Given the description of an element on the screen output the (x, y) to click on. 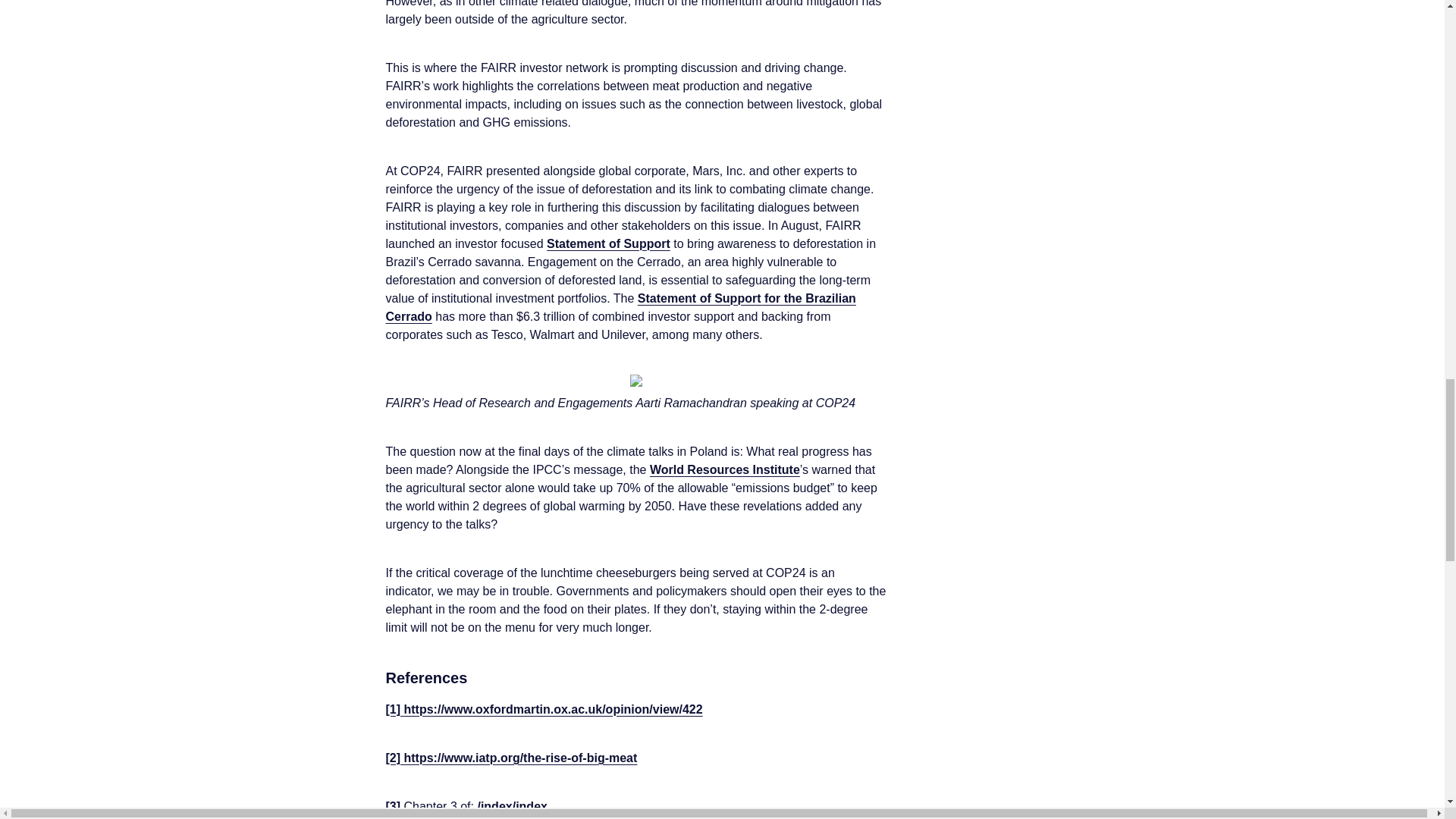
Statement of Support (608, 243)
Statement of Support for the Brazilian Cerrado (620, 306)
World Resources Institute (724, 469)
